Given the description of an element on the screen output the (x, y) to click on. 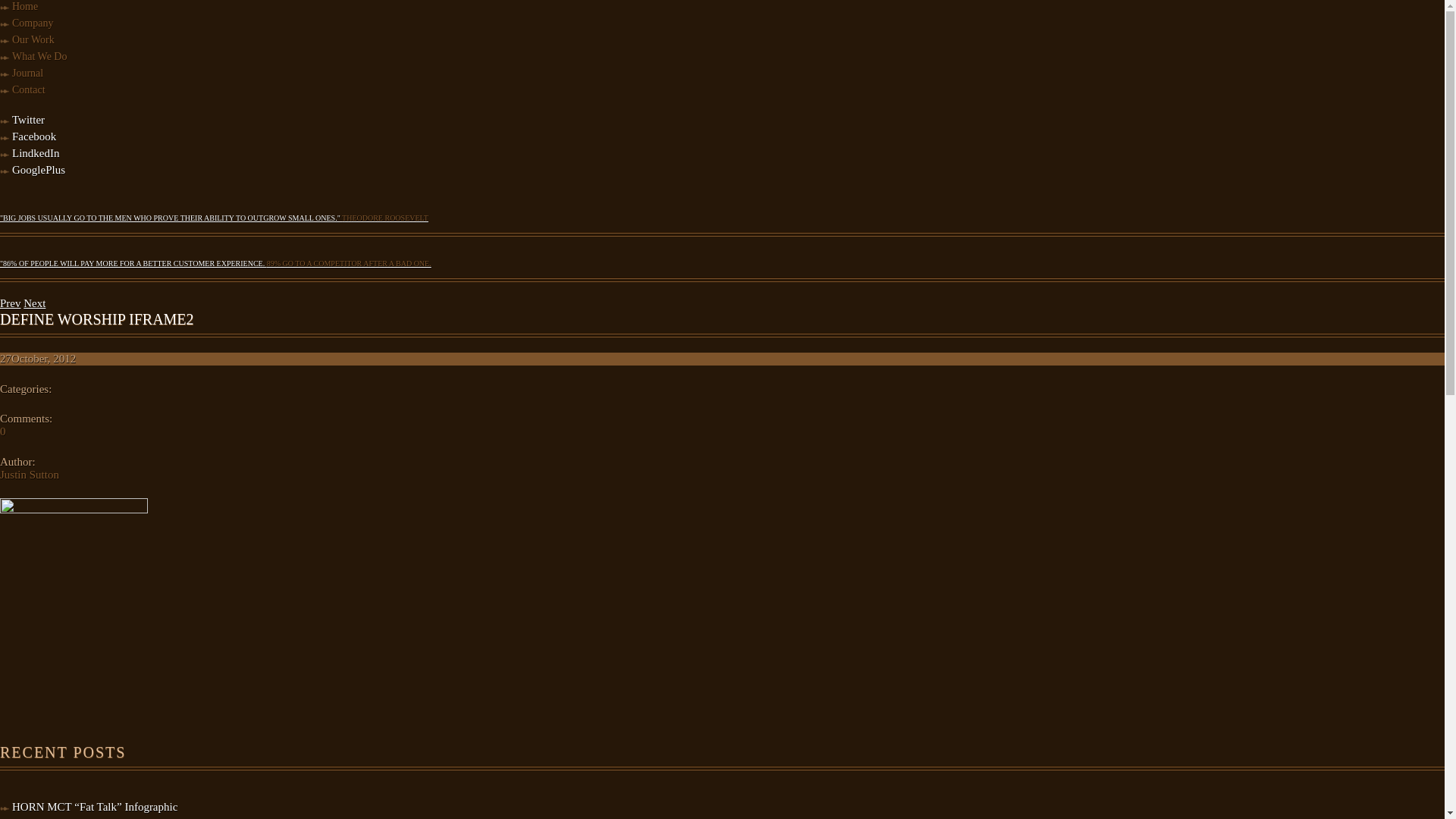
Prev Element type: text (10, 303)
What We Do Element type: text (39, 56)
Journal Element type: text (27, 72)
Contact Element type: text (28, 89)
LindkedIn Element type: text (35, 153)
GooglePlus Element type: text (38, 169)
Next Element type: text (34, 303)
Home Element type: text (24, 6)
Twitter Element type: text (28, 119)
Our Work Element type: text (33, 39)
Company Element type: text (32, 22)
Facebook Element type: text (34, 136)
